Given the description of an element on the screen output the (x, y) to click on. 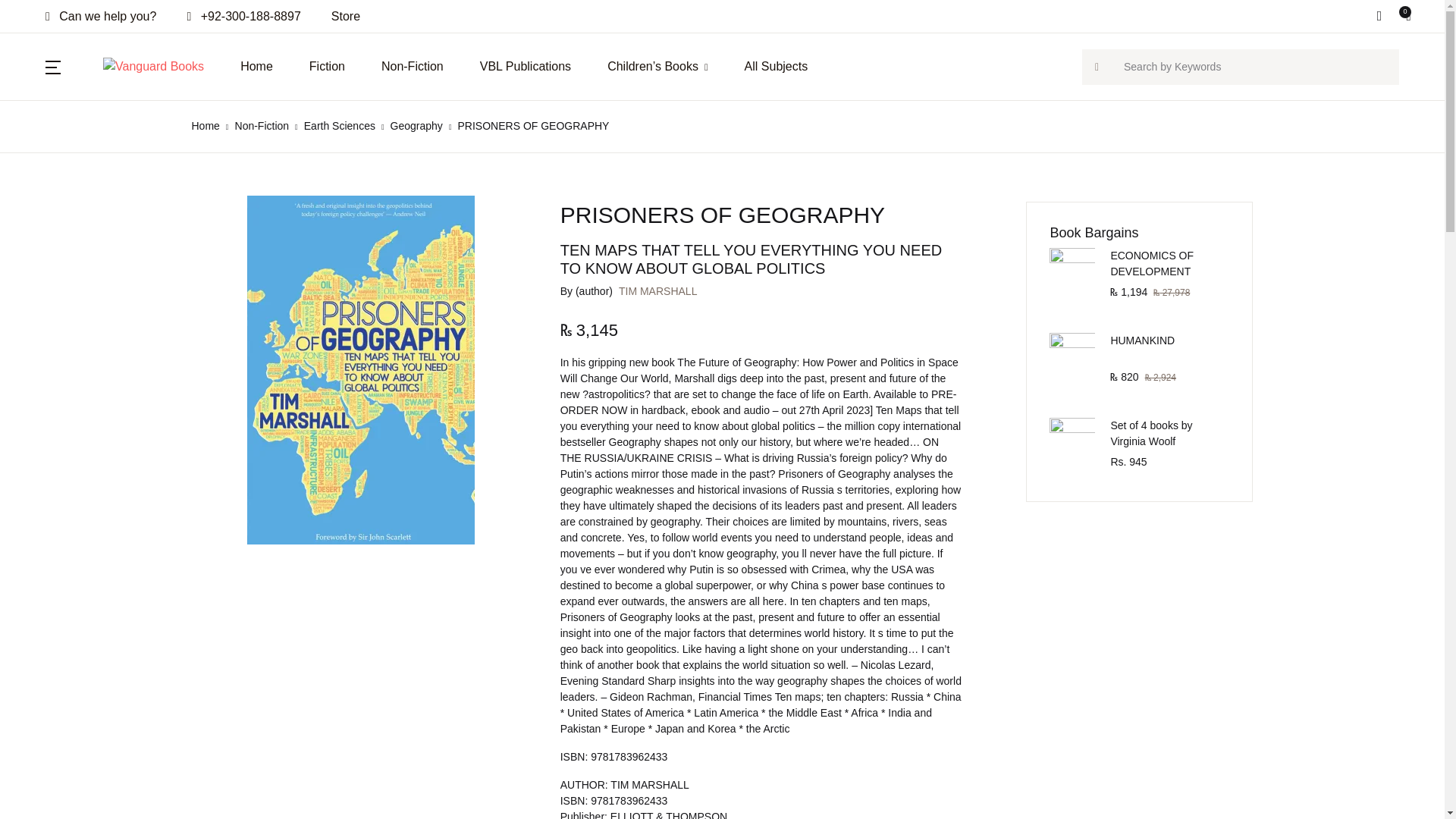
Store (345, 16)
Earth Sciences (339, 125)
Non-Fiction (412, 66)
Non-Fiction (261, 125)
Geography (416, 125)
Home (204, 125)
Children's Books (657, 66)
Can we help you? (100, 16)
VBL Publications (525, 66)
